Given the description of an element on the screen output the (x, y) to click on. 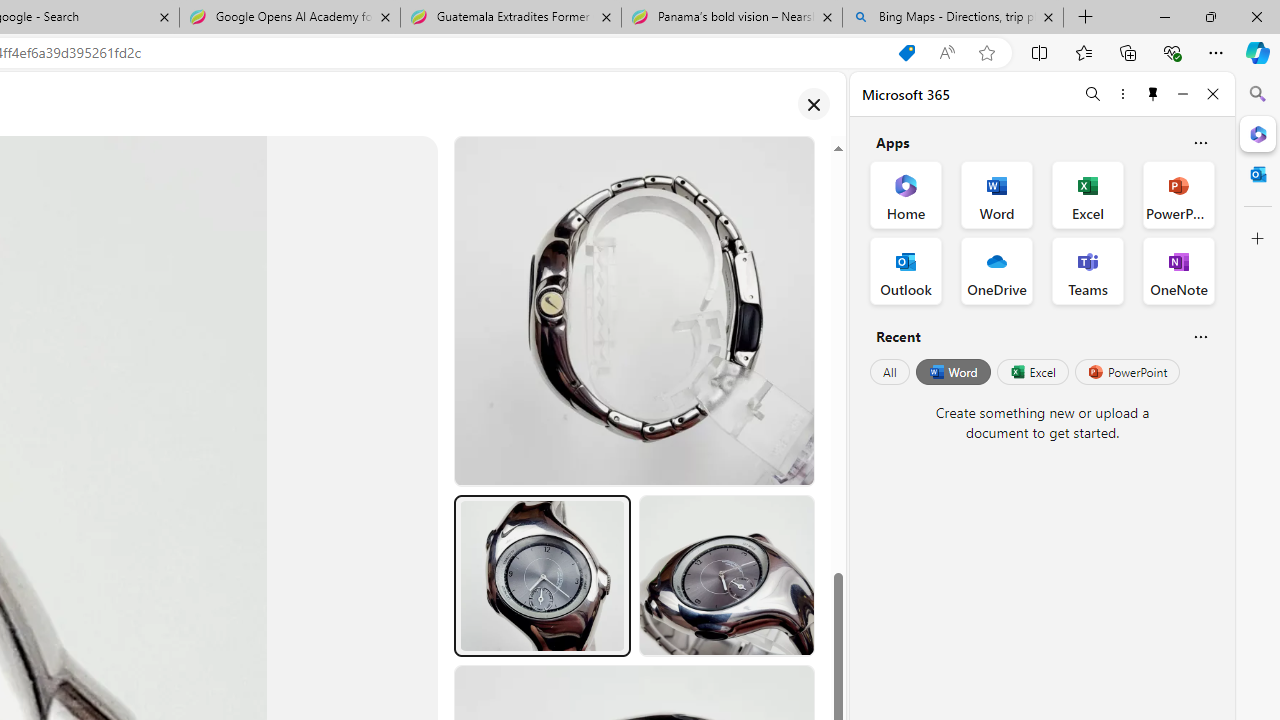
Word (952, 372)
OneDrive Office App (996, 270)
Teams Office App (1087, 270)
PowerPoint (1127, 372)
Google Opens AI Academy for Startups - Nearshore Americas (290, 17)
